Given the description of an element on the screen output the (x, y) to click on. 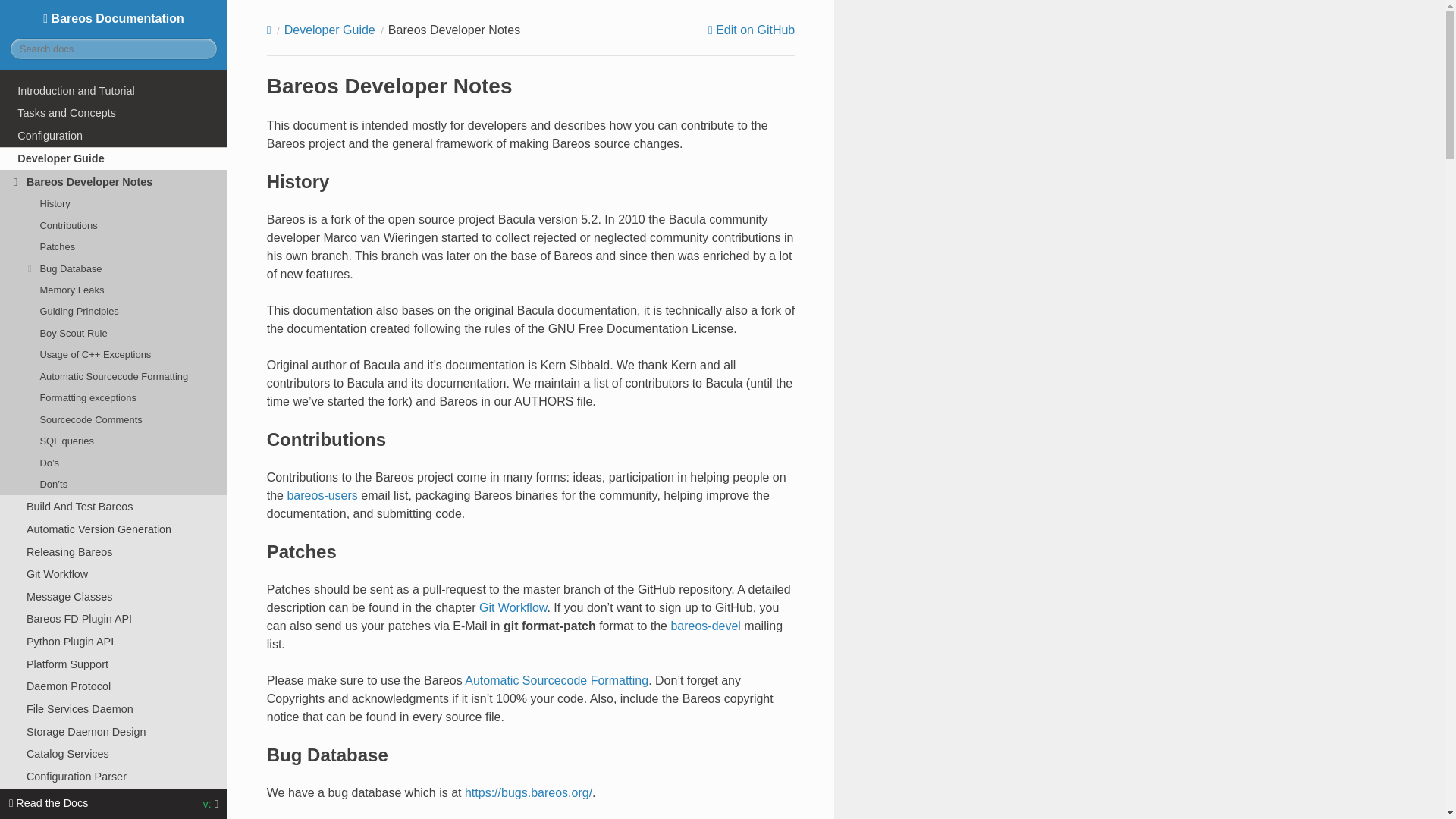
Guiding Principles (113, 311)
Message Classes (113, 596)
Bareos FD Plugin API (113, 619)
Introduction and Tutorial (113, 90)
File Services Daemon (113, 708)
Daemon Protocol (113, 685)
Git Workflow (113, 573)
Storage Daemon Design (113, 731)
Releasing Bareos (113, 551)
Boy Scout Rule (113, 332)
History (113, 203)
Sourcecode Comments (113, 419)
Configuration (113, 135)
Contributions (113, 224)
Bareos Developer Notes (113, 181)
